Given the description of an element on the screen output the (x, y) to click on. 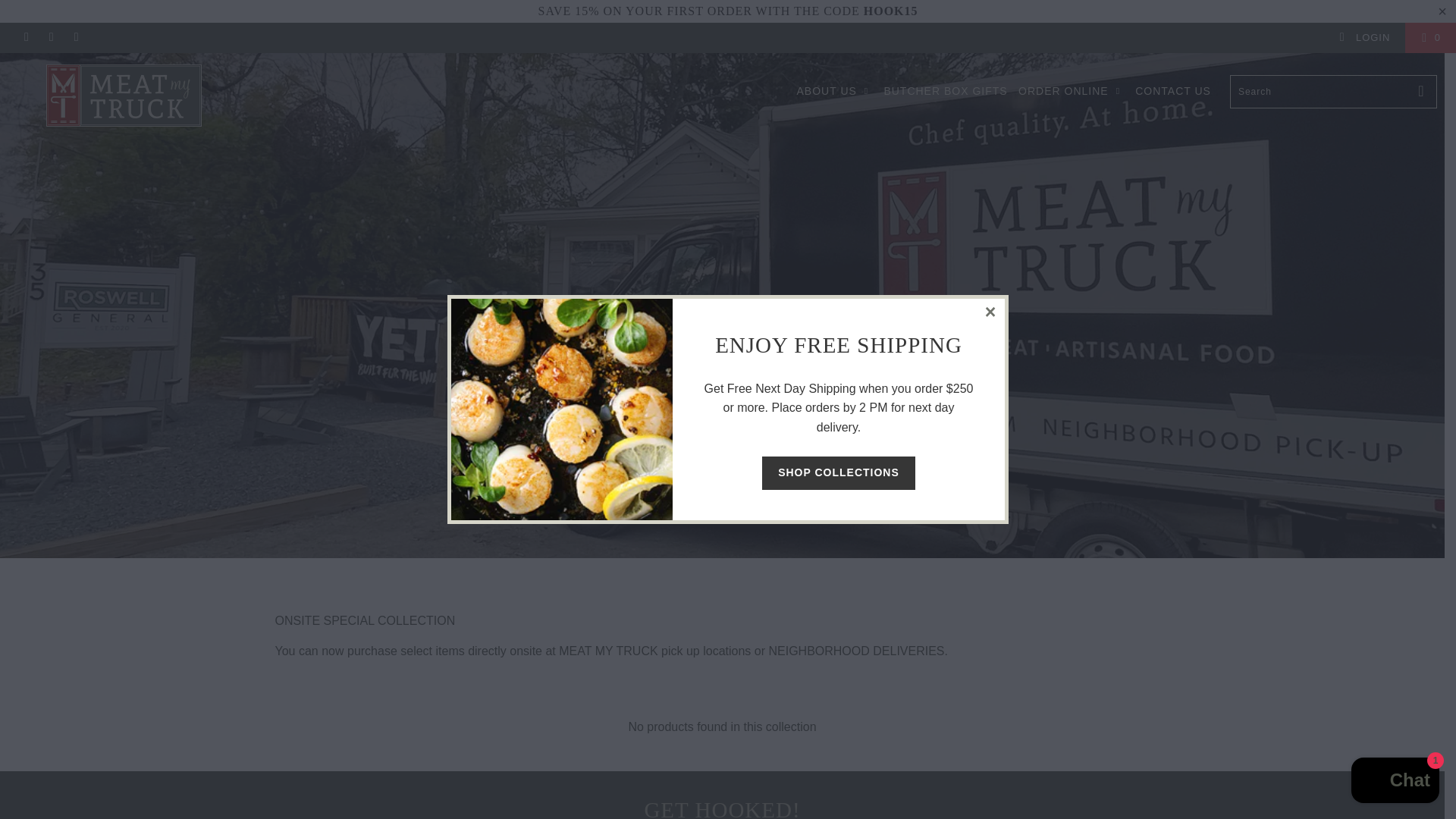
Meat My Truck (123, 95)
Meat My Truck on Facebook (25, 37)
Email Meat My Truck (75, 37)
Meat My Truck on Instagram (50, 37)
My Account  (1364, 37)
